Given the description of an element on the screen output the (x, y) to click on. 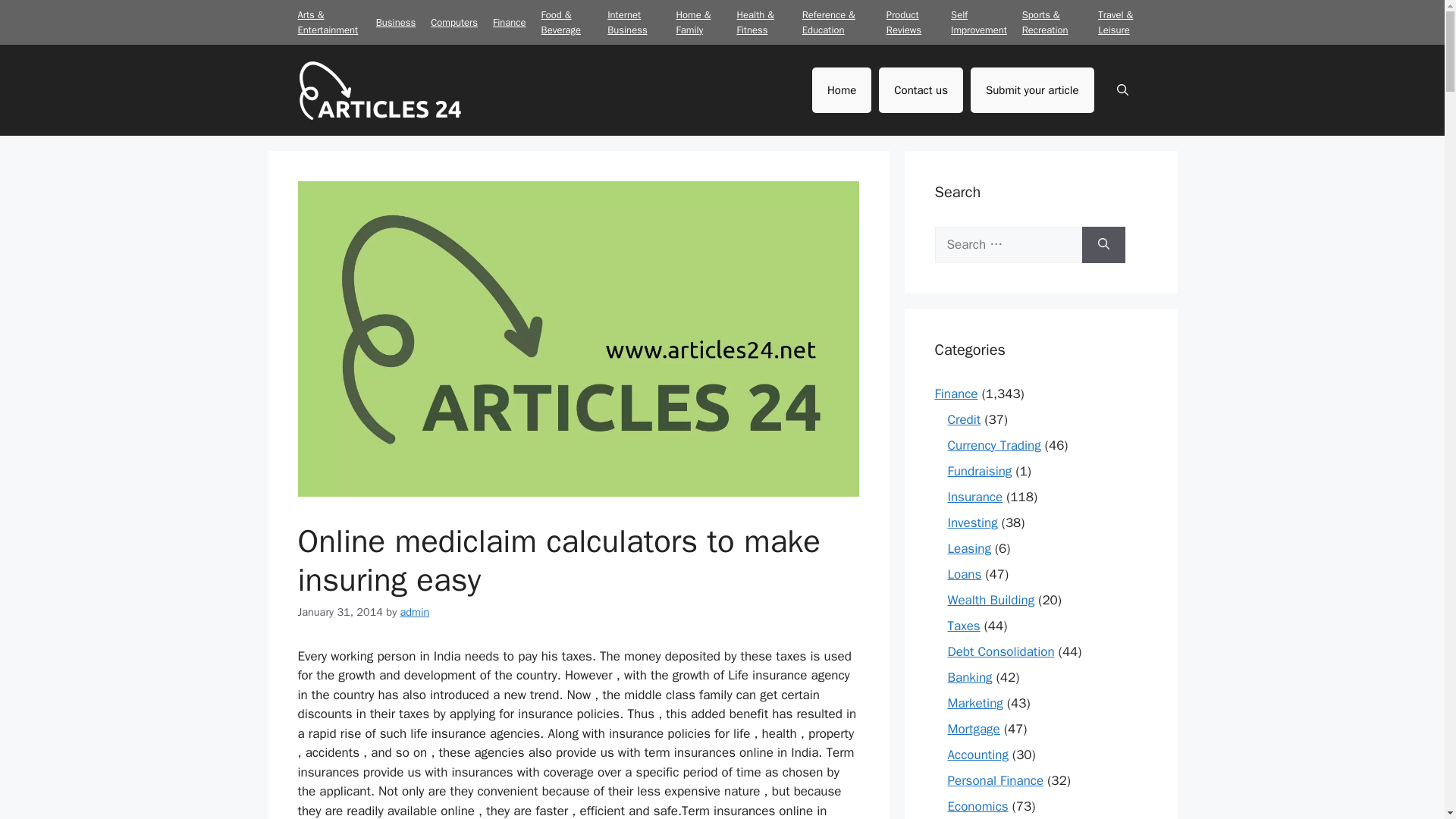
admin (414, 612)
Self Improvement (978, 22)
Product Reviews (903, 22)
Contact us (920, 90)
Computers (453, 21)
Search for: (1007, 244)
Finance (509, 21)
Business (394, 21)
Internet Business (626, 22)
Finance (955, 392)
